Given the description of an element on the screen output the (x, y) to click on. 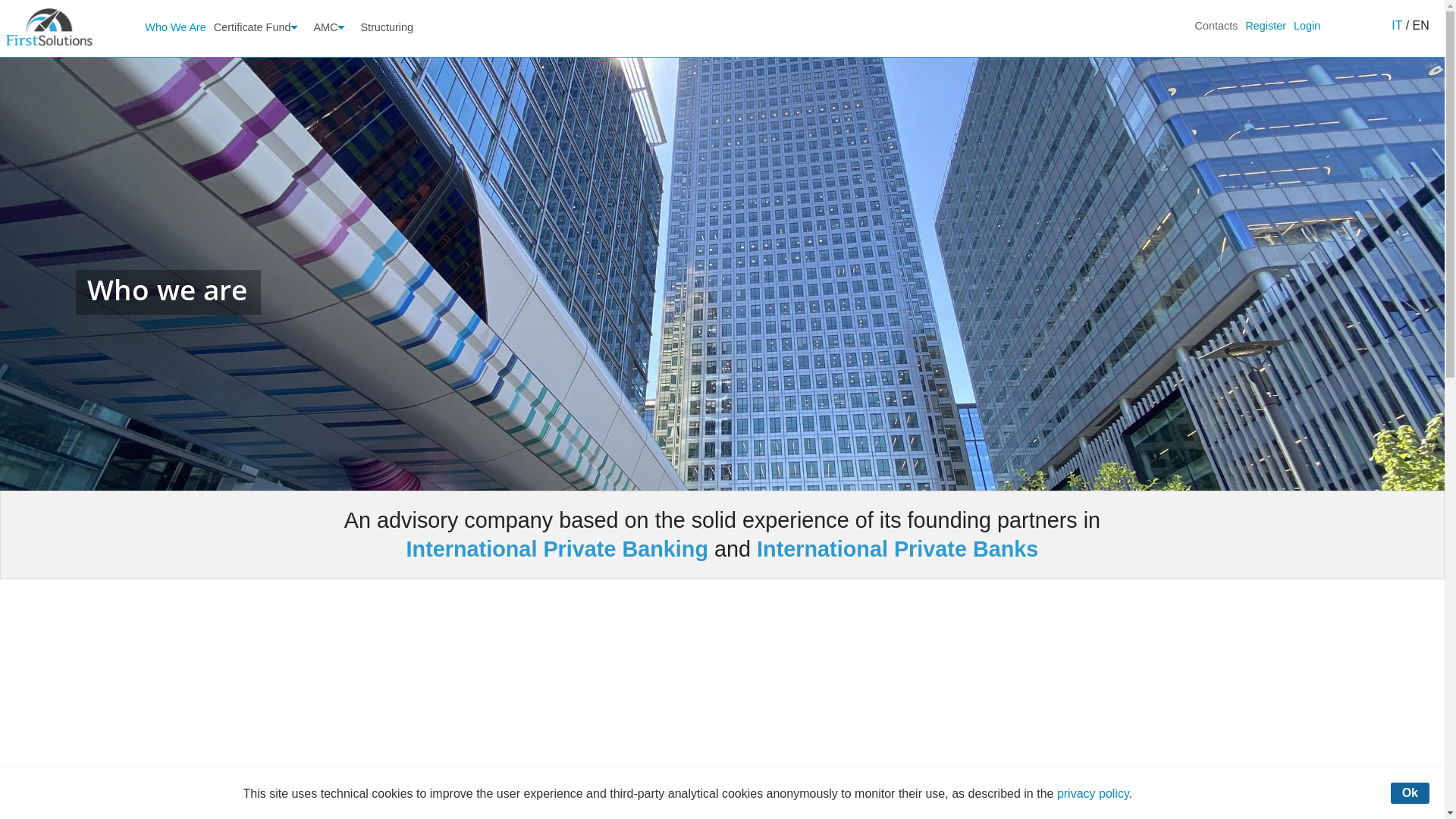
Register Element type: text (1265, 25)
Presentation Element type: text (332, 57)
FS MRM Algo Element type: text (332, 163)
Login Element type: text (1306, 25)
FS Multi Thematic Trends Element type: text (332, 190)
FS CeD Dynamic Allocation Element type: text (332, 84)
Certificate Fund Element type: text (260, 27)
Structuring Element type: text (386, 27)
IT Element type: text (1396, 24)
Who We Are Element type: text (175, 27)
Ok Element type: text (1409, 792)
FS GBA Element type: text (332, 137)
Home Element type: hover (48, 27)
Contacts Element type: text (1216, 25)
privacy policy Element type: text (1093, 793)
AMC Element type: text (332, 27)
FS 4Invest Alpha Liquidity Element type: text (332, 110)
FS Quant Best Europe Element type: text (332, 216)
Presentation Element type: text (260, 57)
FS Quant Structured Products Element type: text (332, 243)
Updated Position Element type: text (260, 84)
